Given the description of an element on the screen output the (x, y) to click on. 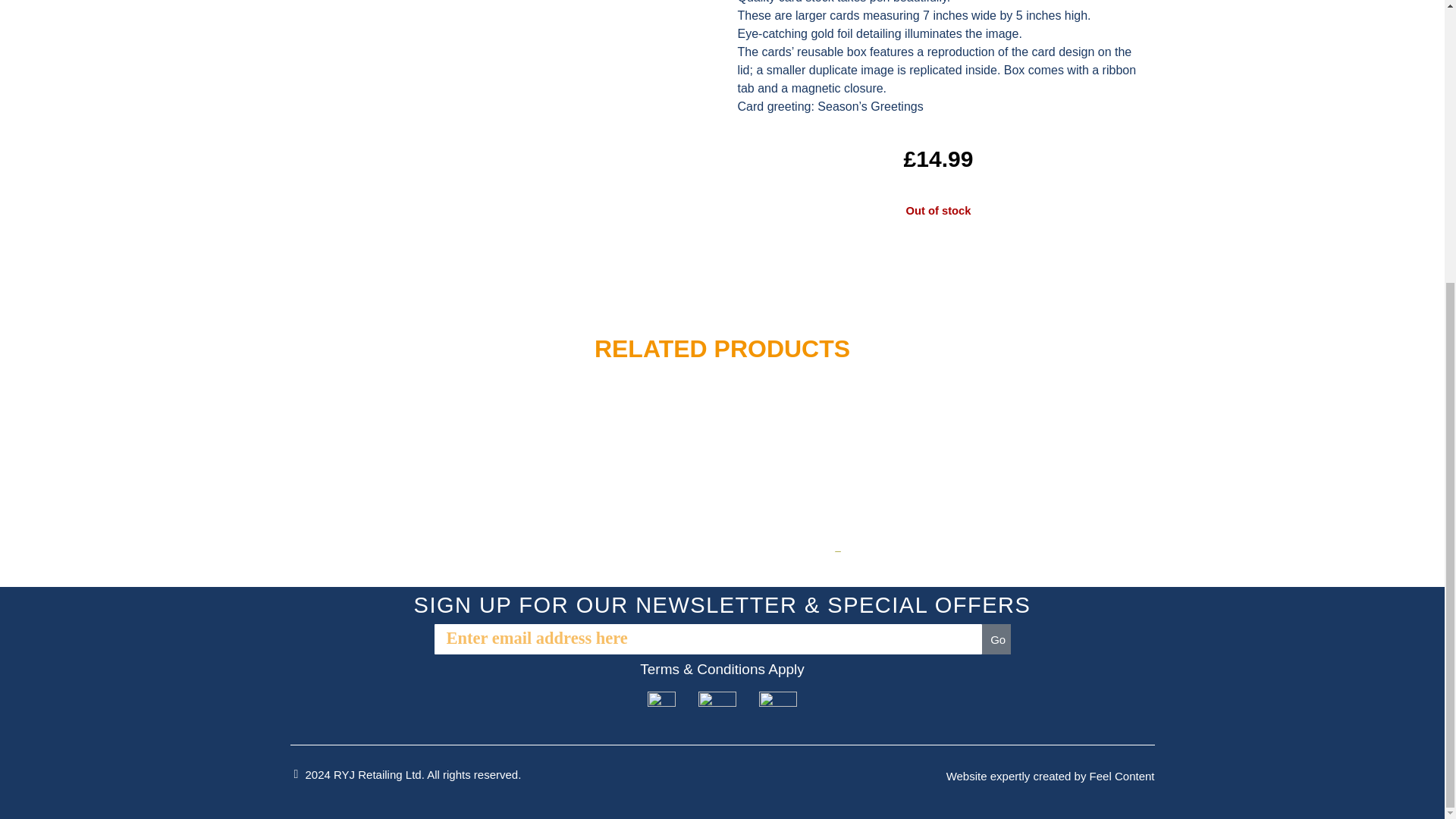
Go (995, 639)
Feel Content (1121, 775)
